Given the description of an element on the screen output the (x, y) to click on. 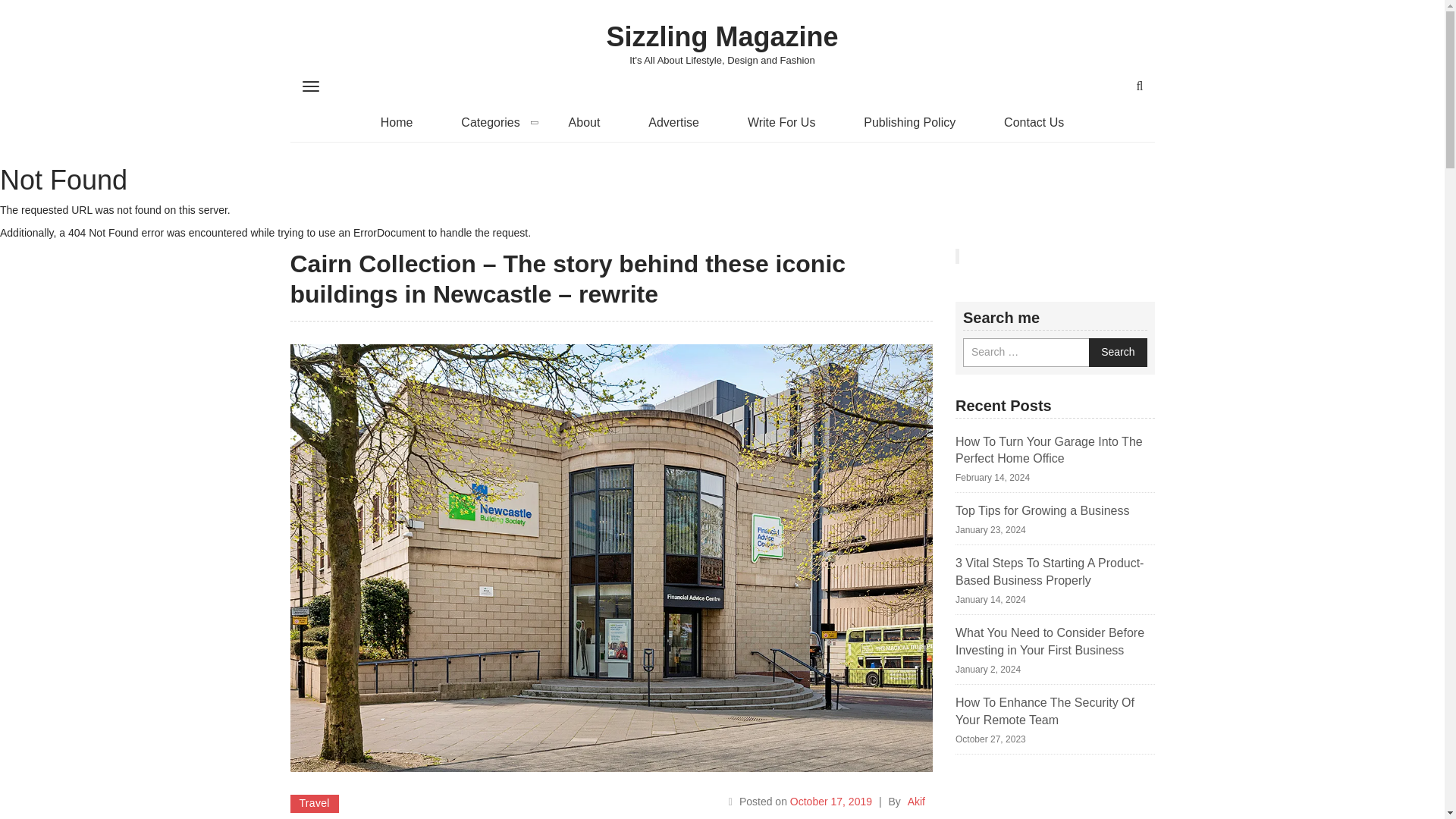
Write For Us (781, 122)
About (584, 122)
Categories (489, 122)
Publishing Policy (909, 122)
October 17, 2019 (831, 801)
Akif (915, 801)
Contact Us (1033, 122)
Advertise (674, 122)
Sizzling Magazine (721, 33)
Home (396, 122)
Travel (313, 803)
